Given the description of an element on the screen output the (x, y) to click on. 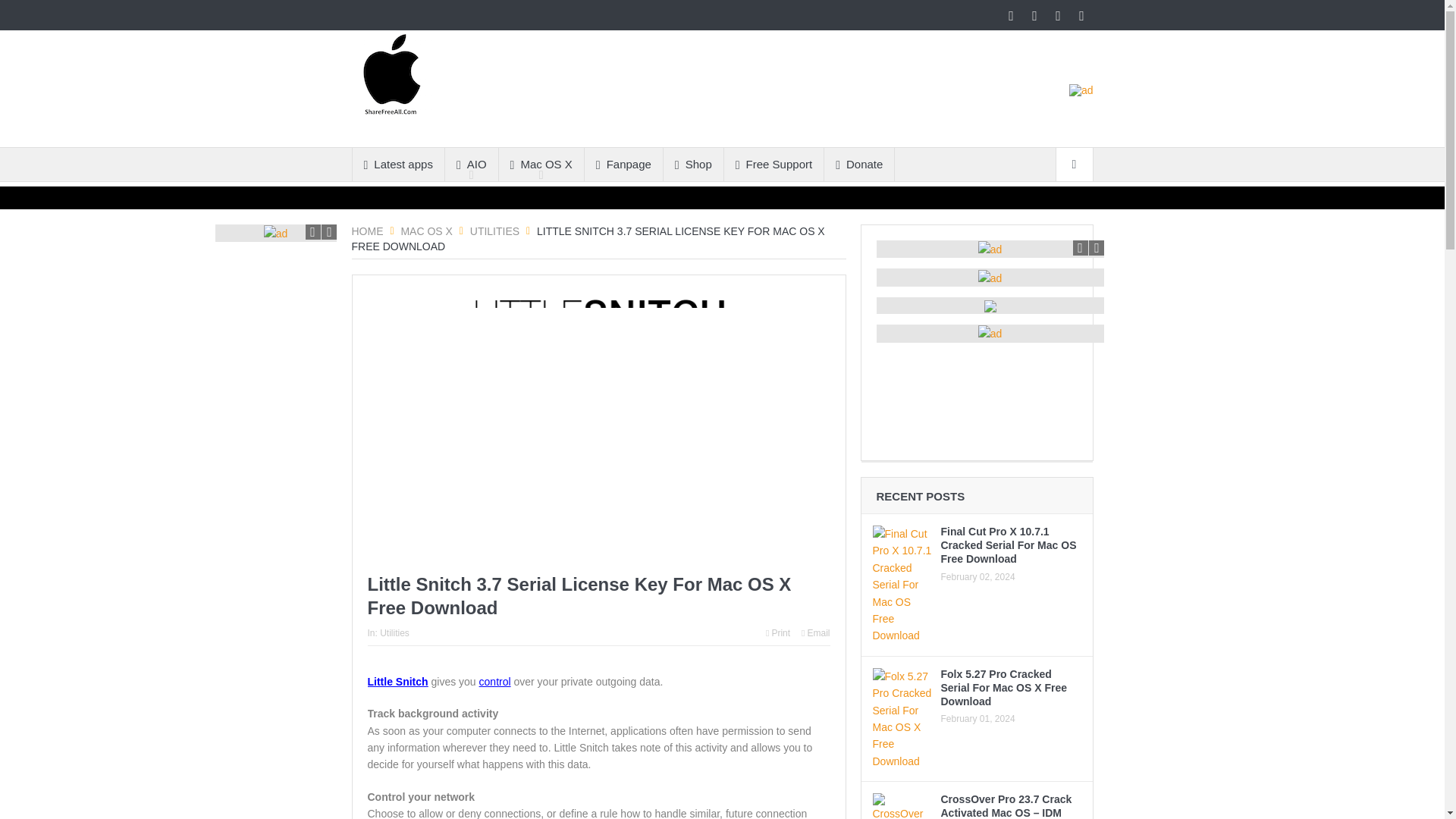
Donate (858, 164)
Shop (693, 164)
Utilities (494, 231)
AIO (471, 164)
Fanpage (623, 164)
Free Support (773, 164)
Mac OS X (541, 164)
View all posts in Utilities (394, 633)
Mac OS X (425, 231)
Latest apps (398, 164)
